Given the description of an element on the screen output the (x, y) to click on. 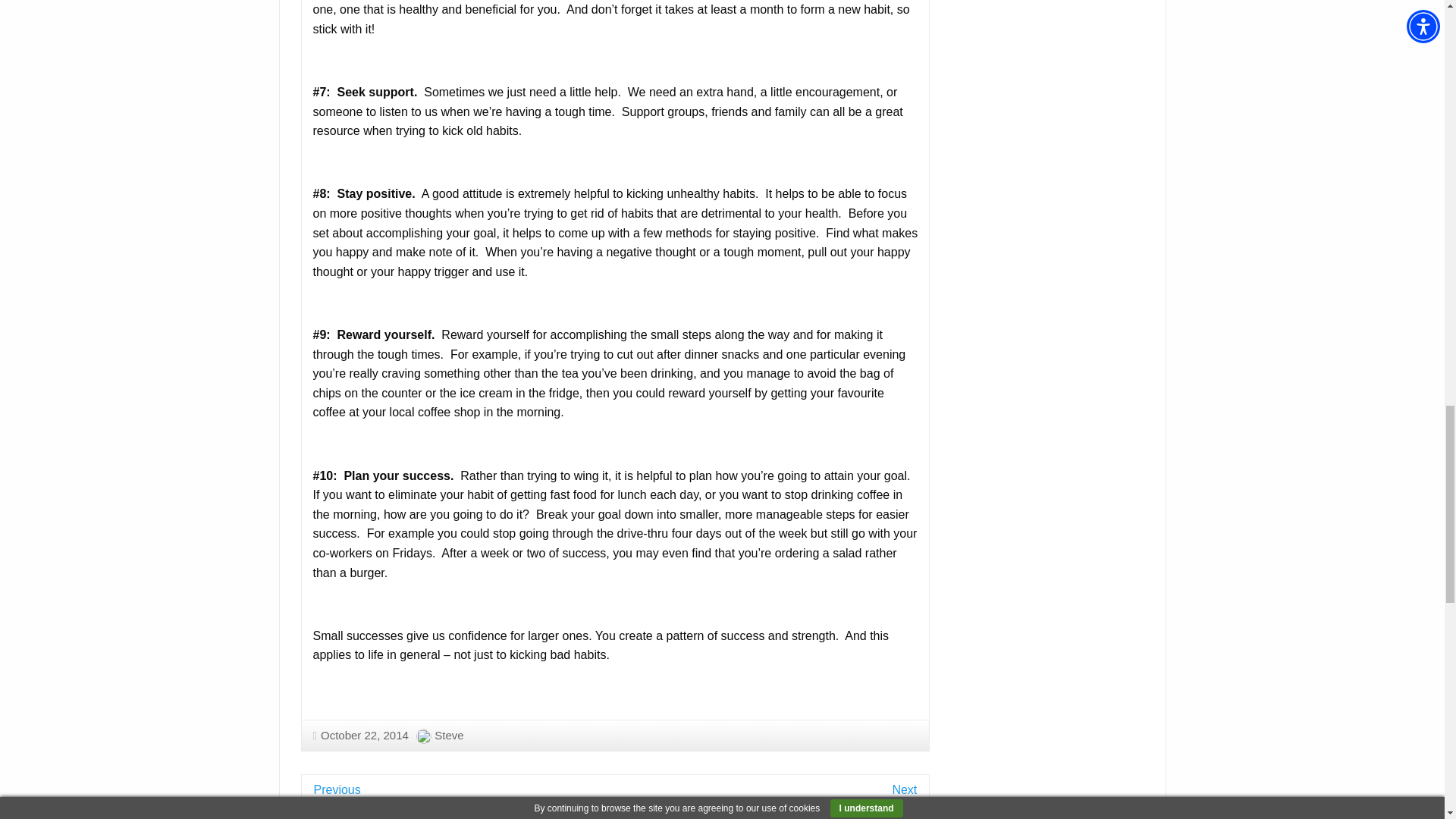
Previous (337, 789)
Steve (448, 735)
Next (904, 789)
October 22, 2014 (360, 735)
